Given the description of an element on the screen output the (x, y) to click on. 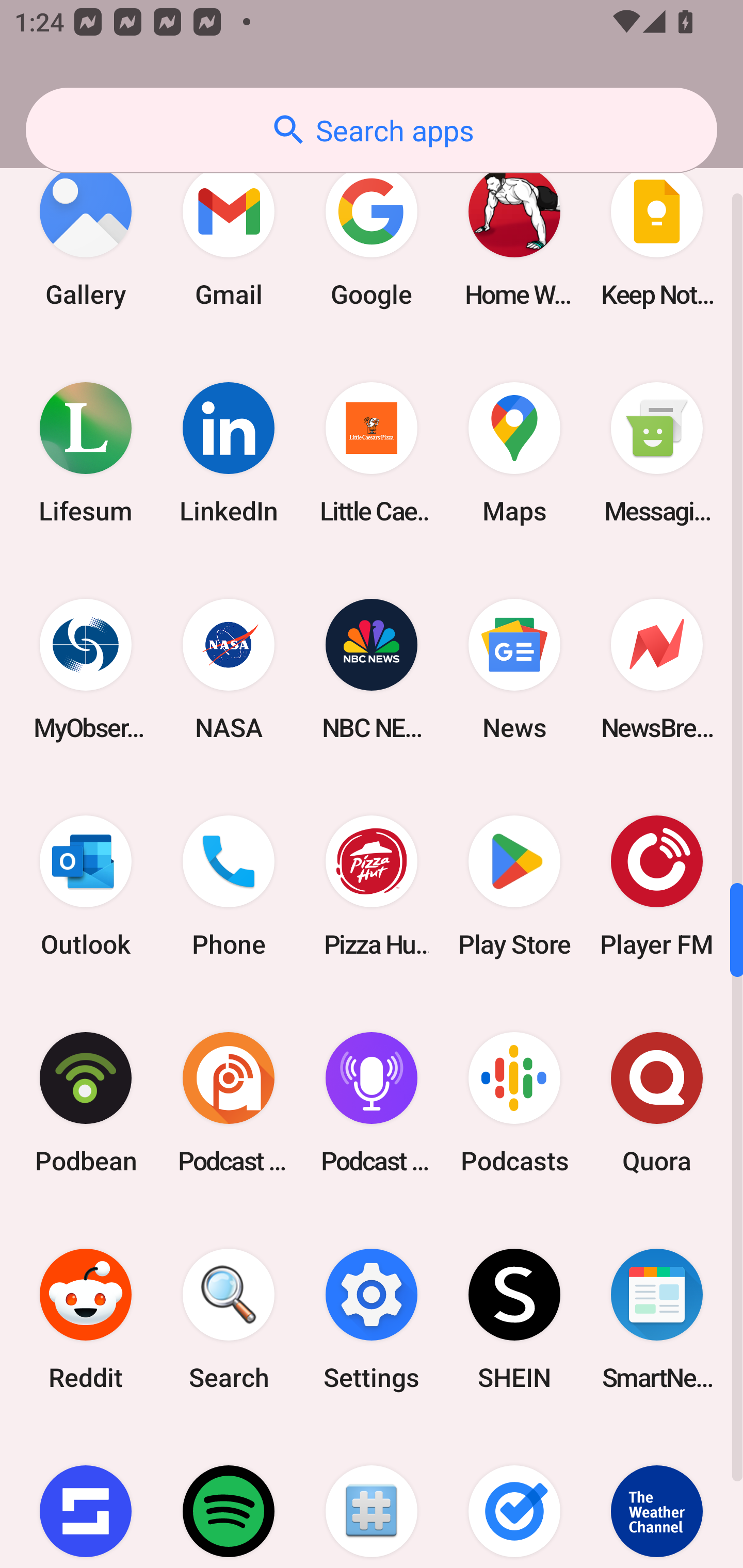
  Search apps (371, 130)
Gallery (85, 236)
Gmail (228, 236)
Google (371, 236)
Home Workout (514, 236)
Keep Notes (656, 236)
Lifesum (85, 452)
LinkedIn (228, 452)
Little Caesars Pizza (371, 452)
Maps (514, 452)
Messaging (656, 452)
MyObservatory (85, 669)
NASA (228, 669)
NBC NEWS (371, 669)
News (514, 669)
NewsBreak (656, 669)
Outlook (85, 885)
Phone (228, 885)
Pizza Hut HK & Macau (371, 885)
Play Store (514, 885)
Player FM (656, 885)
Podbean (85, 1102)
Podcast Addict (228, 1102)
Podcast Player (371, 1102)
Podcasts (514, 1102)
Quora (656, 1102)
Reddit (85, 1319)
Search (228, 1319)
Settings (371, 1319)
SHEIN (514, 1319)
SmartNews (656, 1319)
Sofascore (85, 1498)
Spotify (228, 1498)
Superuser (371, 1498)
Tasks (514, 1498)
The Weather Channel (656, 1498)
